Given the description of an element on the screen output the (x, y) to click on. 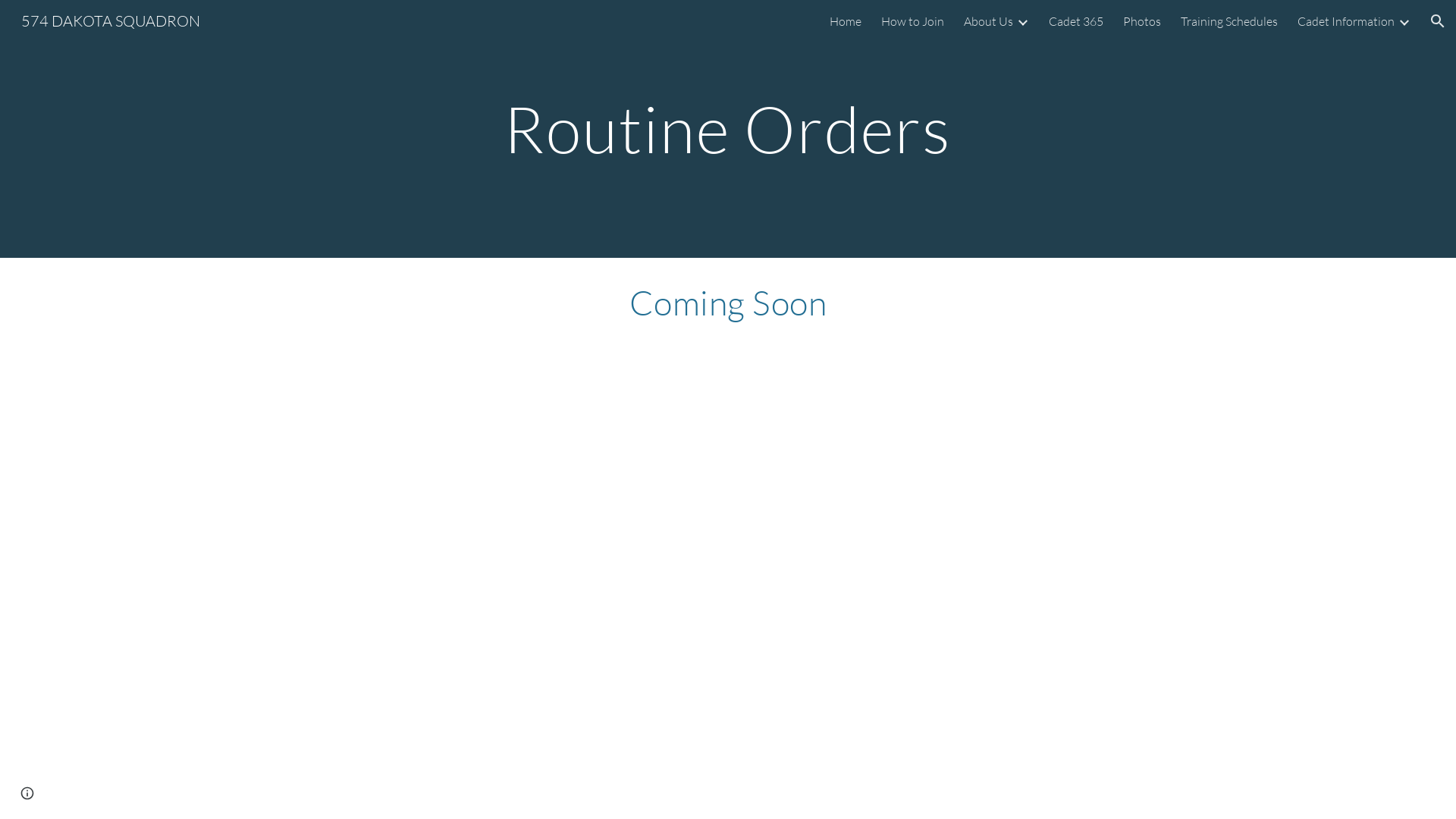
How to Join Element type: text (912, 20)
574 DAKOTA SQUADRON Element type: text (110, 18)
Cadet Information Element type: text (1345, 20)
Cadet 365 Element type: text (1075, 20)
Expand/Collapse Element type: hover (1022, 20)
Photos Element type: text (1142, 20)
About Us Element type: text (988, 20)
Expand/Collapse Element type: hover (1403, 20)
Home Element type: text (845, 20)
Training Schedules Element type: text (1228, 20)
